Given the description of an element on the screen output the (x, y) to click on. 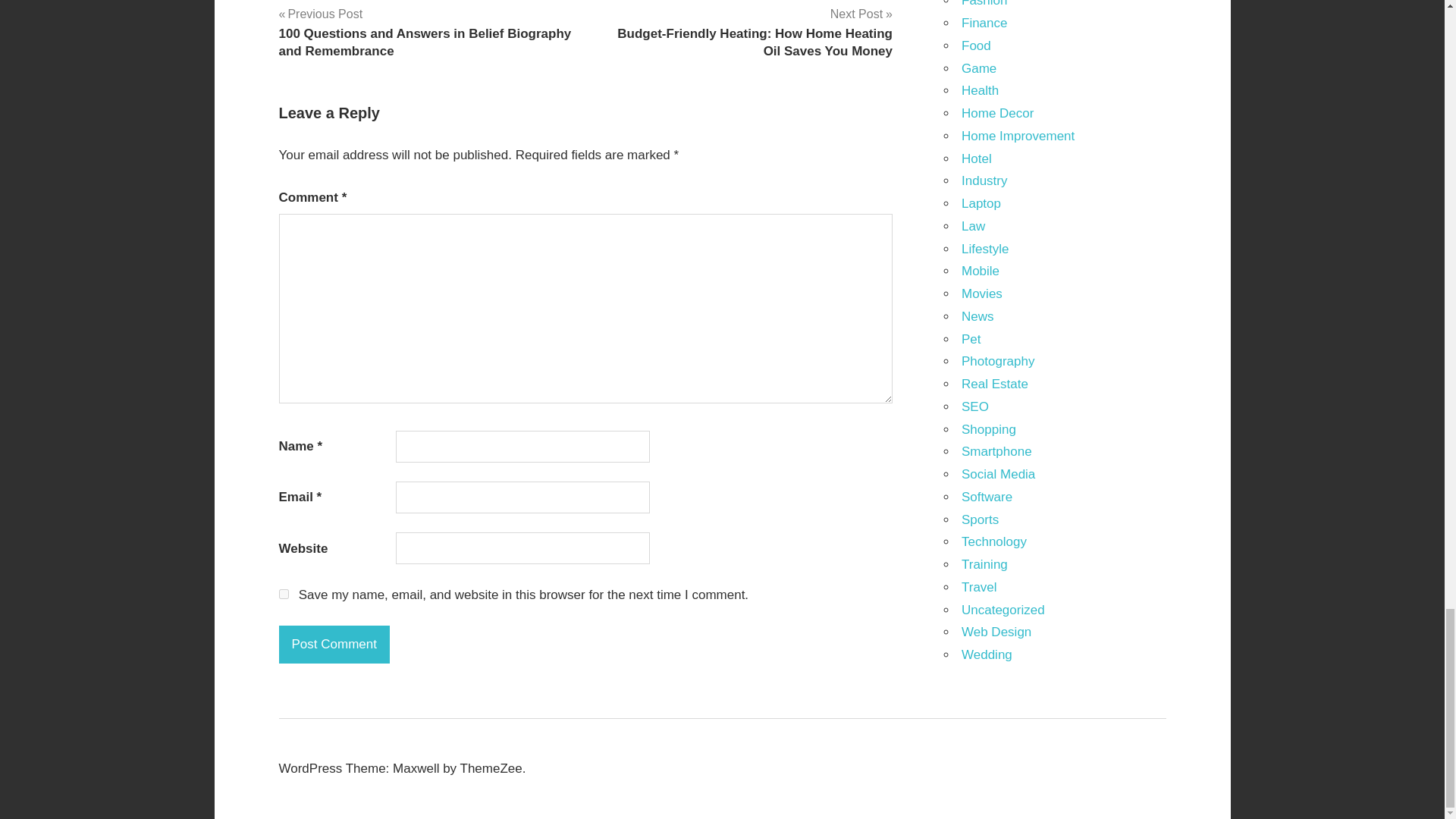
yes (283, 593)
Post Comment (334, 644)
Post Comment (334, 644)
